Given the description of an element on the screen output the (x, y) to click on. 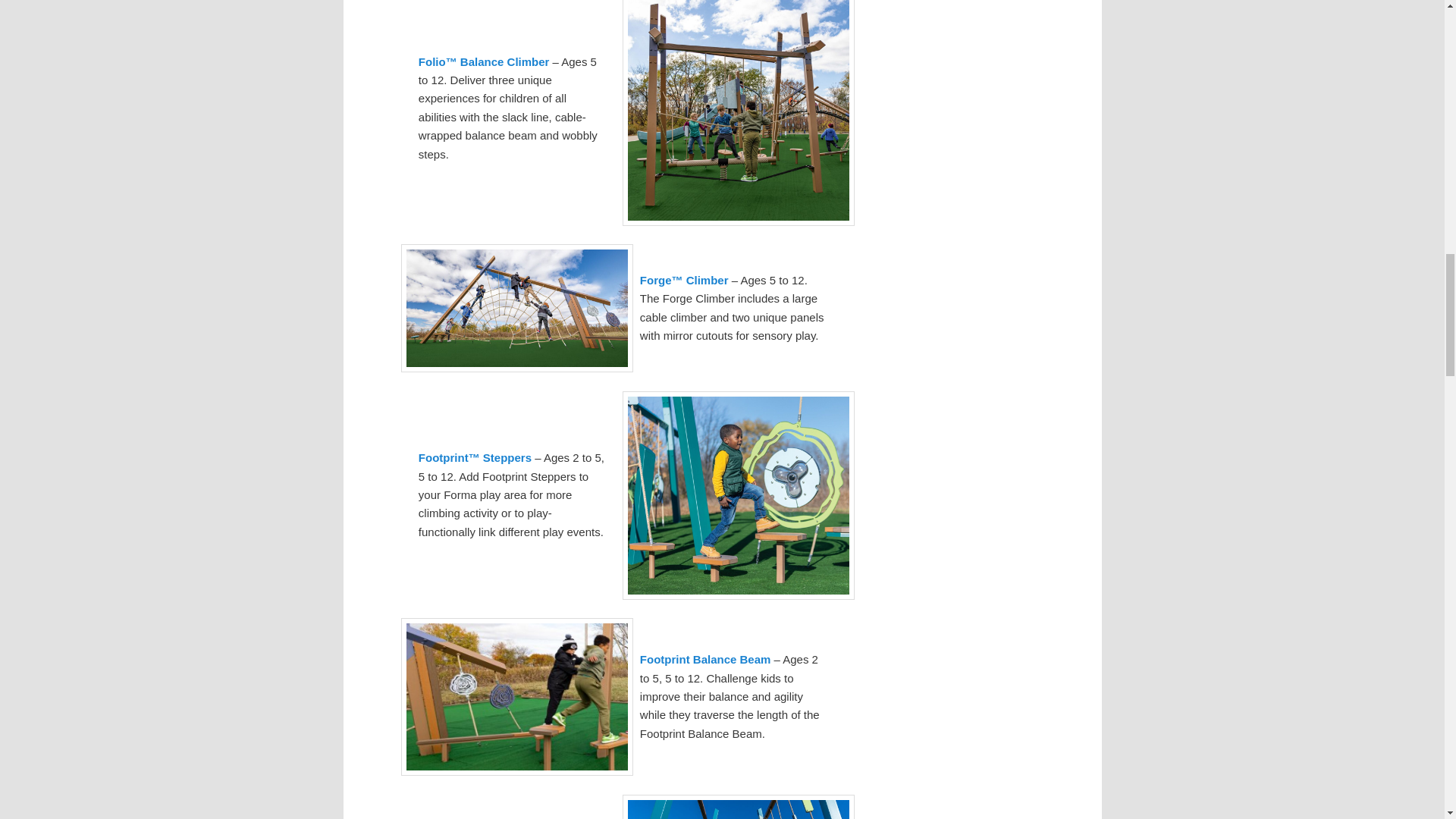
Footprint Balance Beam (705, 658)
